Given the description of an element on the screen output the (x, y) to click on. 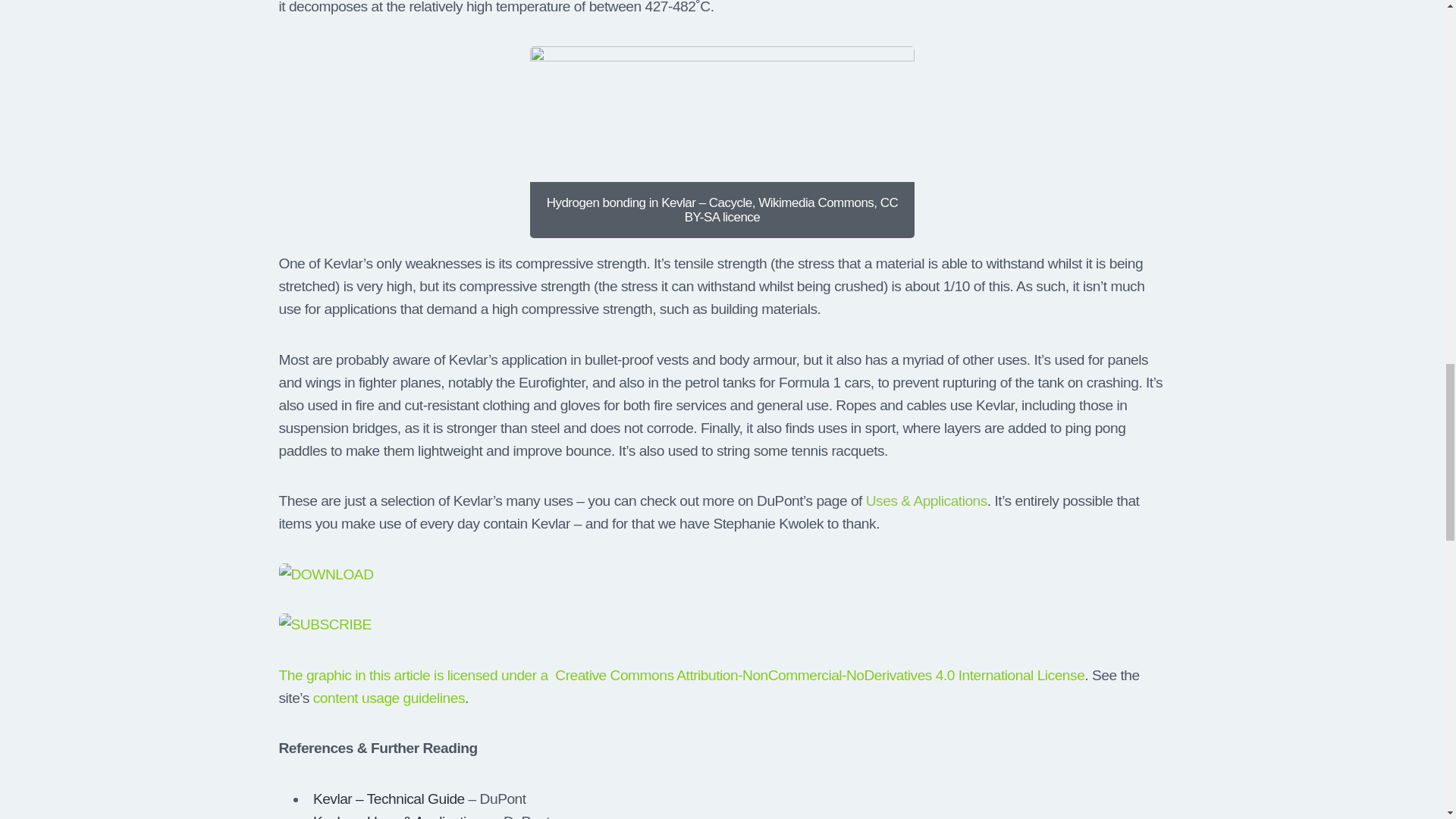
content usage guidelines (388, 697)
